Given the description of an element on the screen output the (x, y) to click on. 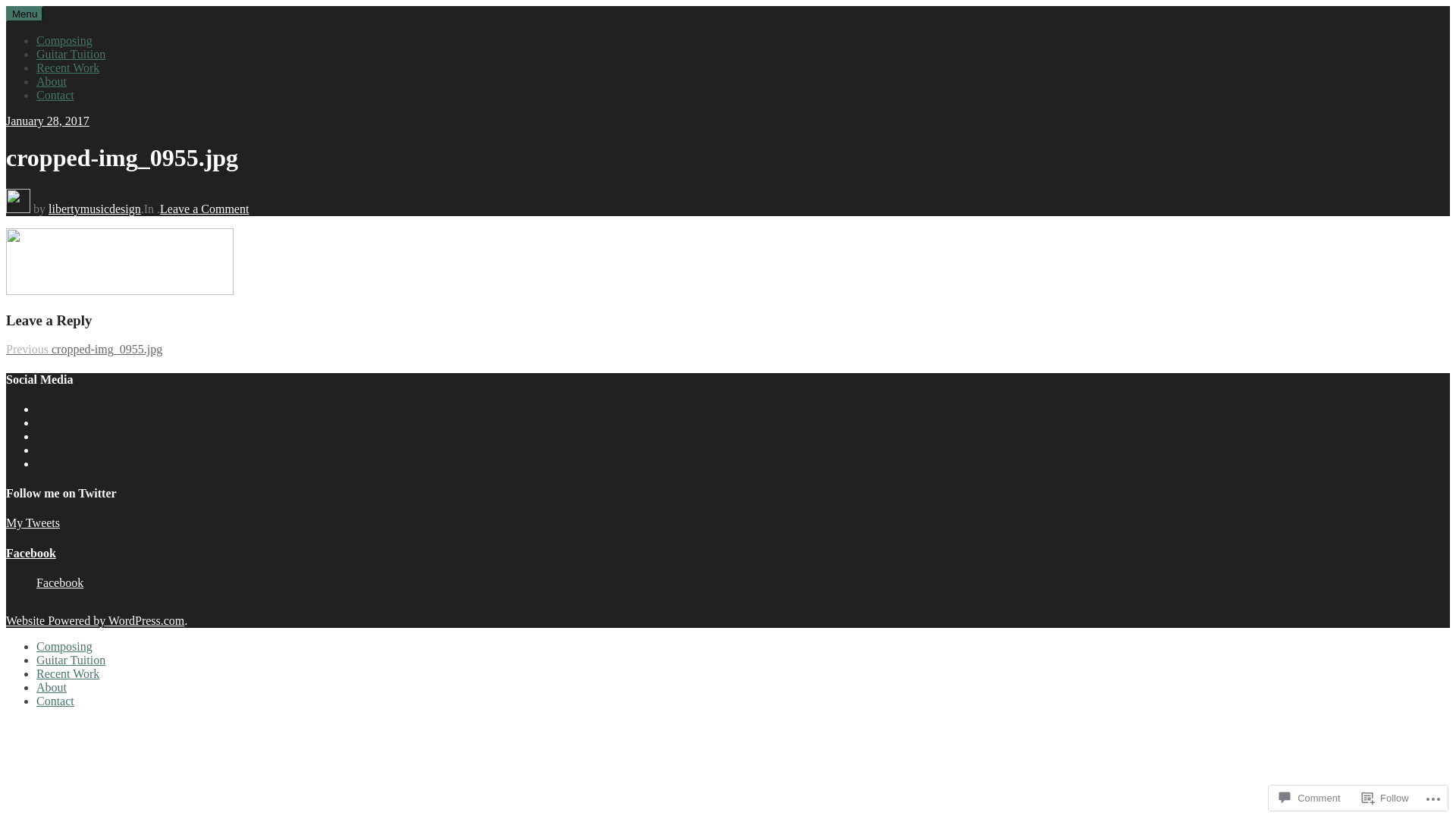
Facebook Element type: text (31, 552)
Previous
Previous post:
cropped-img_0955.jpg Element type: text (84, 348)
About Element type: text (51, 686)
libertymusicdesign Element type: text (94, 208)
Facebook Element type: text (59, 582)
Composing Element type: text (64, 646)
My Tweets Element type: text (32, 522)
Website Powered by WordPress.com Element type: text (95, 620)
Follow Element type: text (1385, 797)
Guitar Tuition Element type: text (70, 53)
Skip to content Element type: text (5, 5)
Leave a Comment
on cropped-img_0955.jpg Element type: text (204, 208)
Guitar Tuition Element type: text (70, 659)
About Element type: text (51, 81)
Contact Element type: text (55, 94)
Recent Work Element type: text (67, 673)
Composing Element type: text (64, 40)
Contact Element type: text (55, 700)
Comment Element type: text (1309, 797)
Home Element type: text (20, 24)
Menu Element type: text (24, 13)
Recent Work Element type: text (67, 67)
January 28, 2017 Element type: text (47, 120)
